Given the description of an element on the screen output the (x, y) to click on. 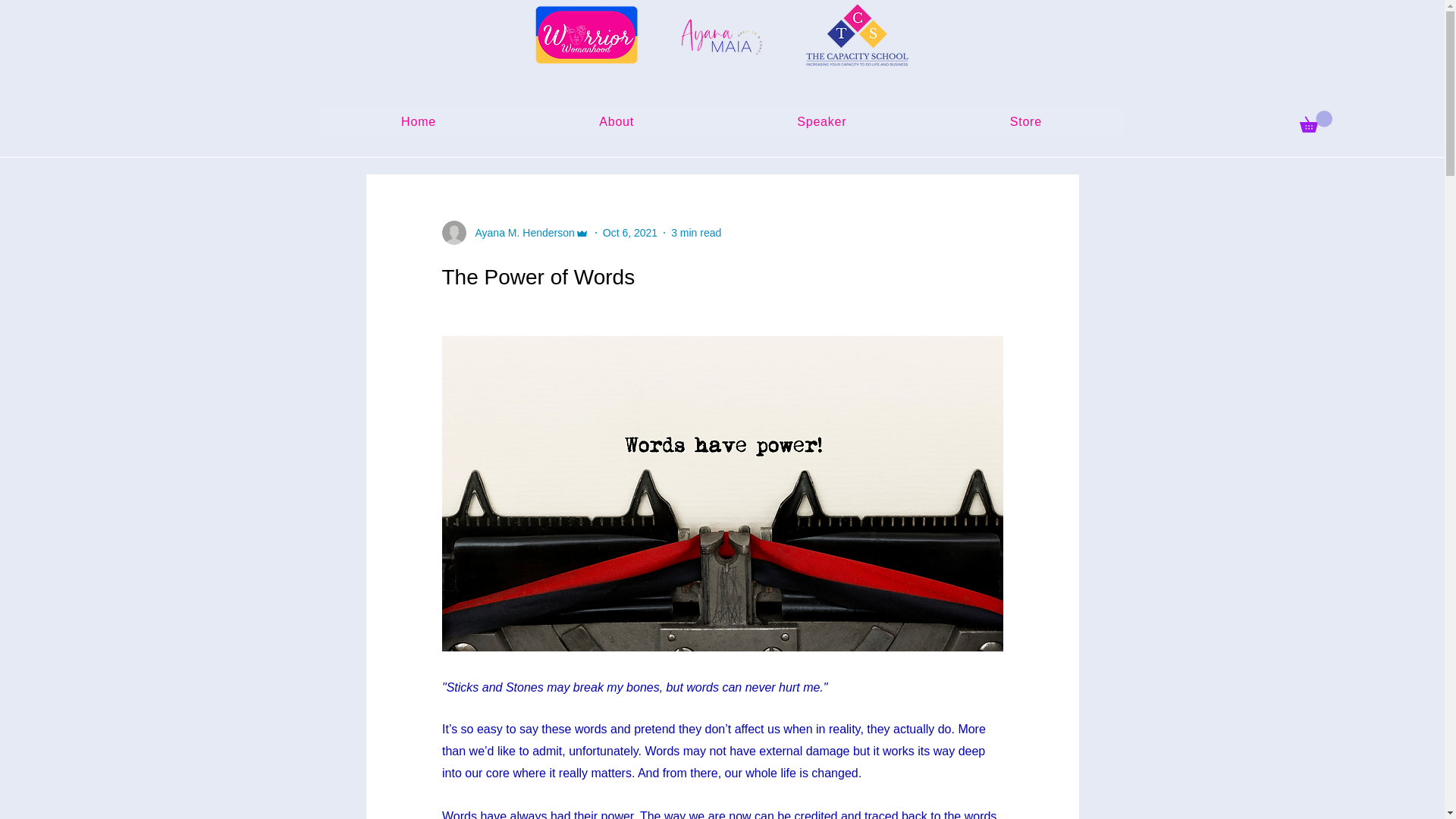
Store (1025, 122)
About (617, 122)
Ayana M. Henderson (514, 232)
Home (419, 122)
Oct 6, 2021 (630, 232)
3 min read (695, 232)
Ayana M. Henderson (519, 232)
Speaker (822, 122)
